Given the description of an element on the screen output the (x, y) to click on. 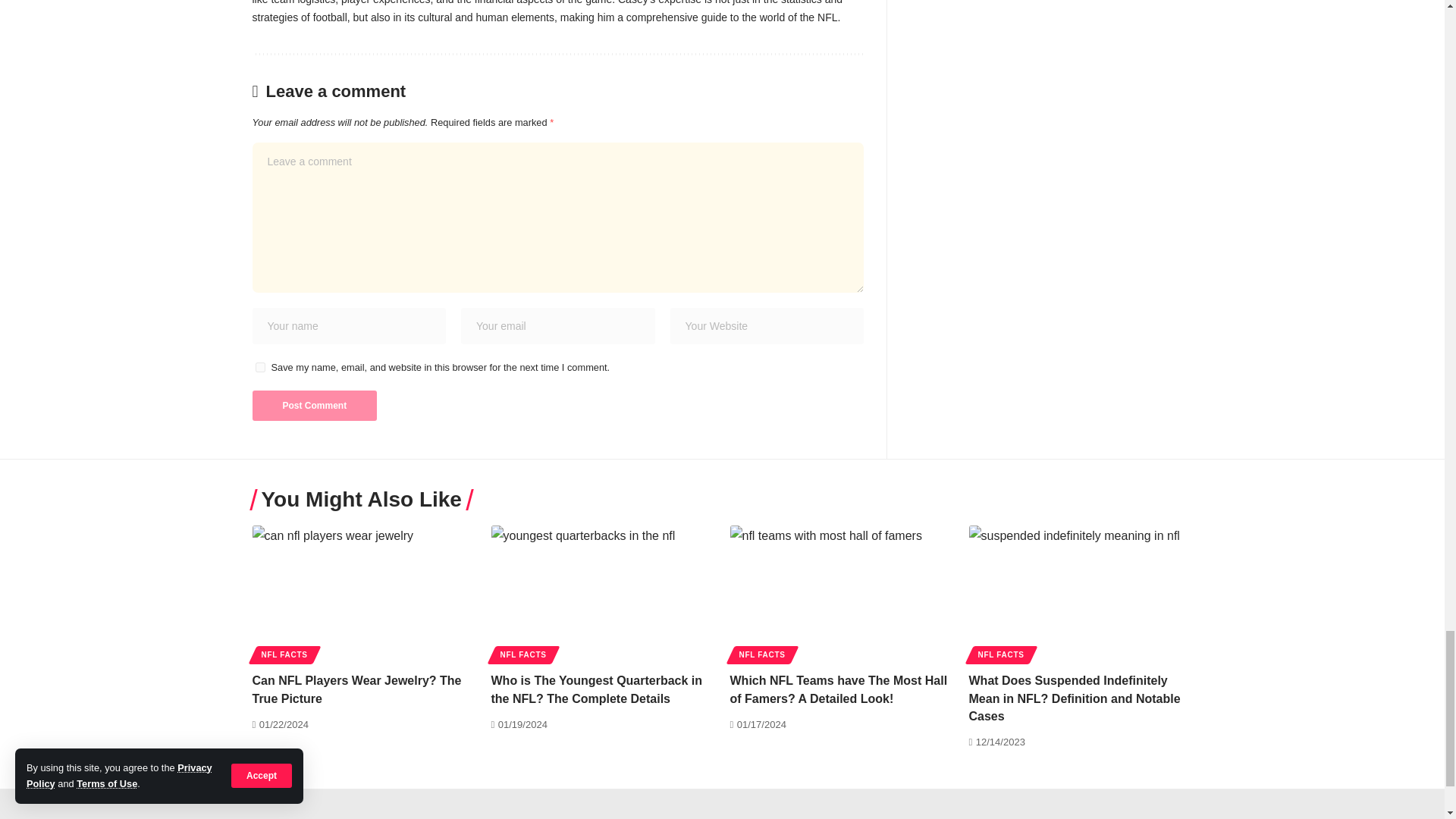
yes (259, 367)
Can NFL Players Wear Jewelry? The True Picture (363, 592)
Post Comment (314, 405)
